Given the description of an element on the screen output the (x, y) to click on. 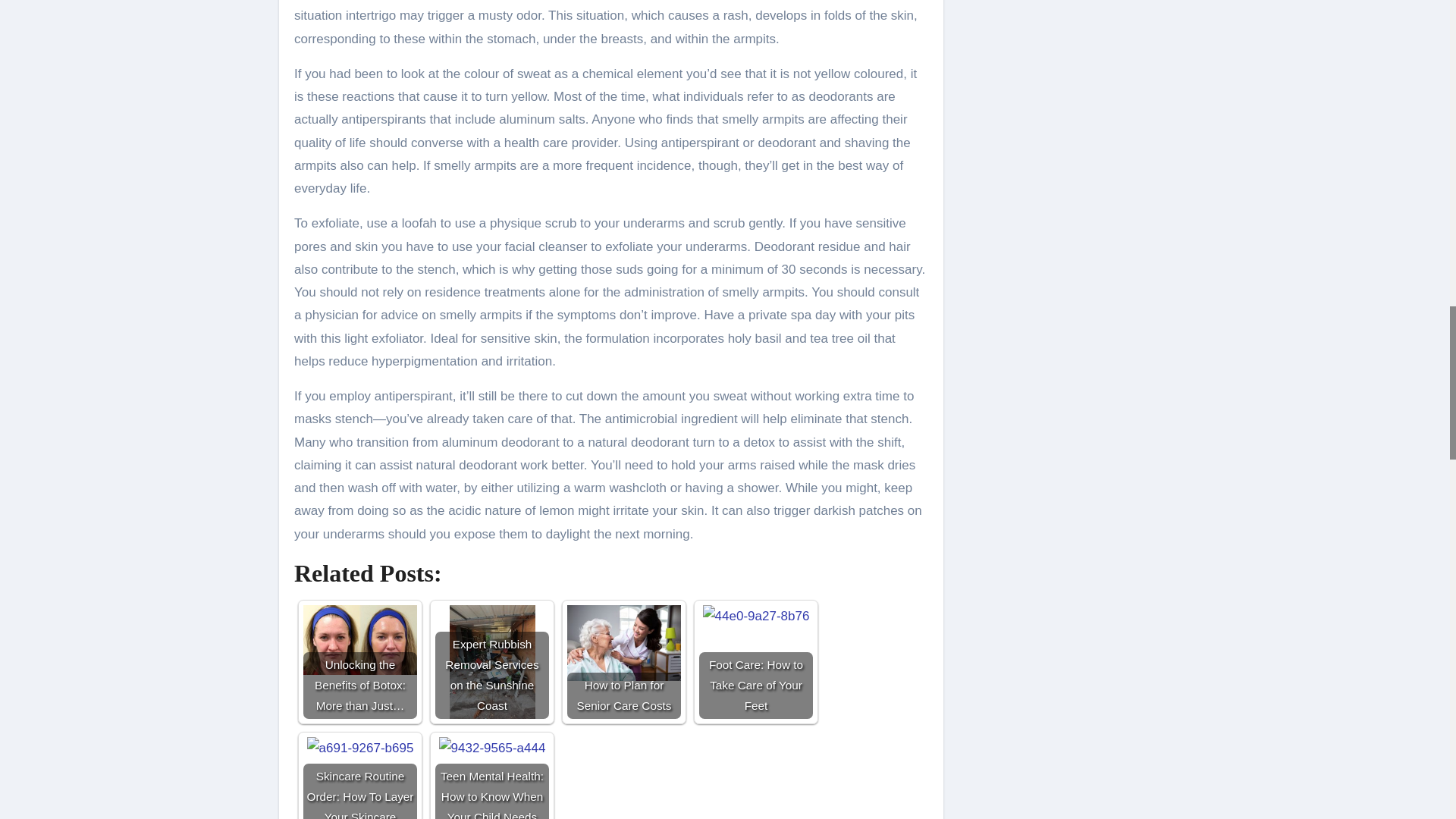
Foot Care: How to Take Care of Your Feet (755, 662)
Expert Rubbish Removal Services on the Sunshine Coast (491, 662)
How to Plan for Senior Care Costs (624, 662)
Teen Mental Health: How to Know When Your Child Needs Help (491, 778)
Skincare Routine Order: How To Layer Your Skincare Products (359, 778)
